Given the description of an element on the screen output the (x, y) to click on. 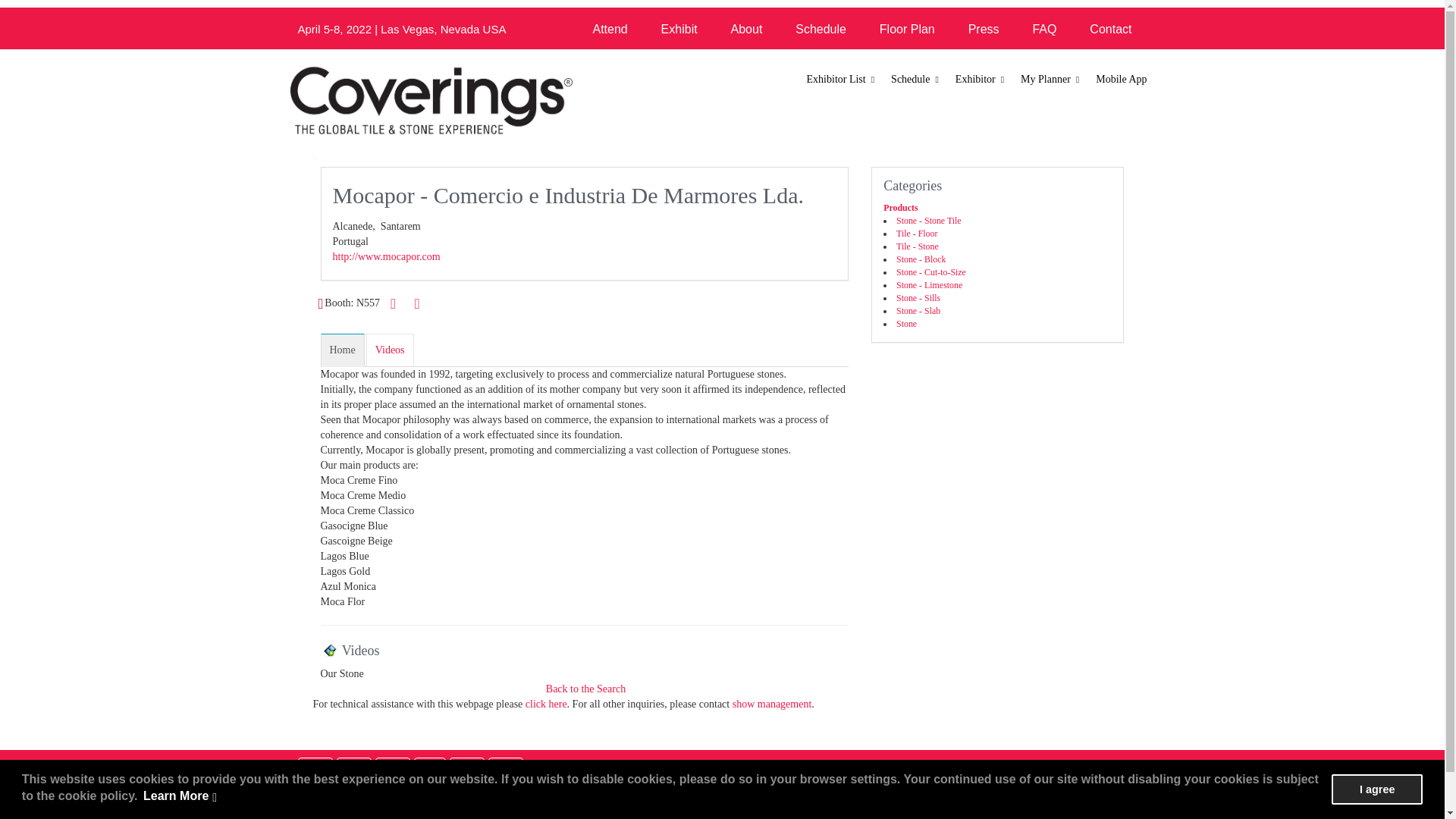
Print (393, 302)
Mobile App (1120, 79)
Learn More (180, 796)
I agree (1377, 788)
About (746, 29)
Attend (609, 29)
My Planner (1050, 79)
Schedule (915, 79)
Exhibitor List (841, 79)
Press (983, 29)
